Given the description of an element on the screen output the (x, y) to click on. 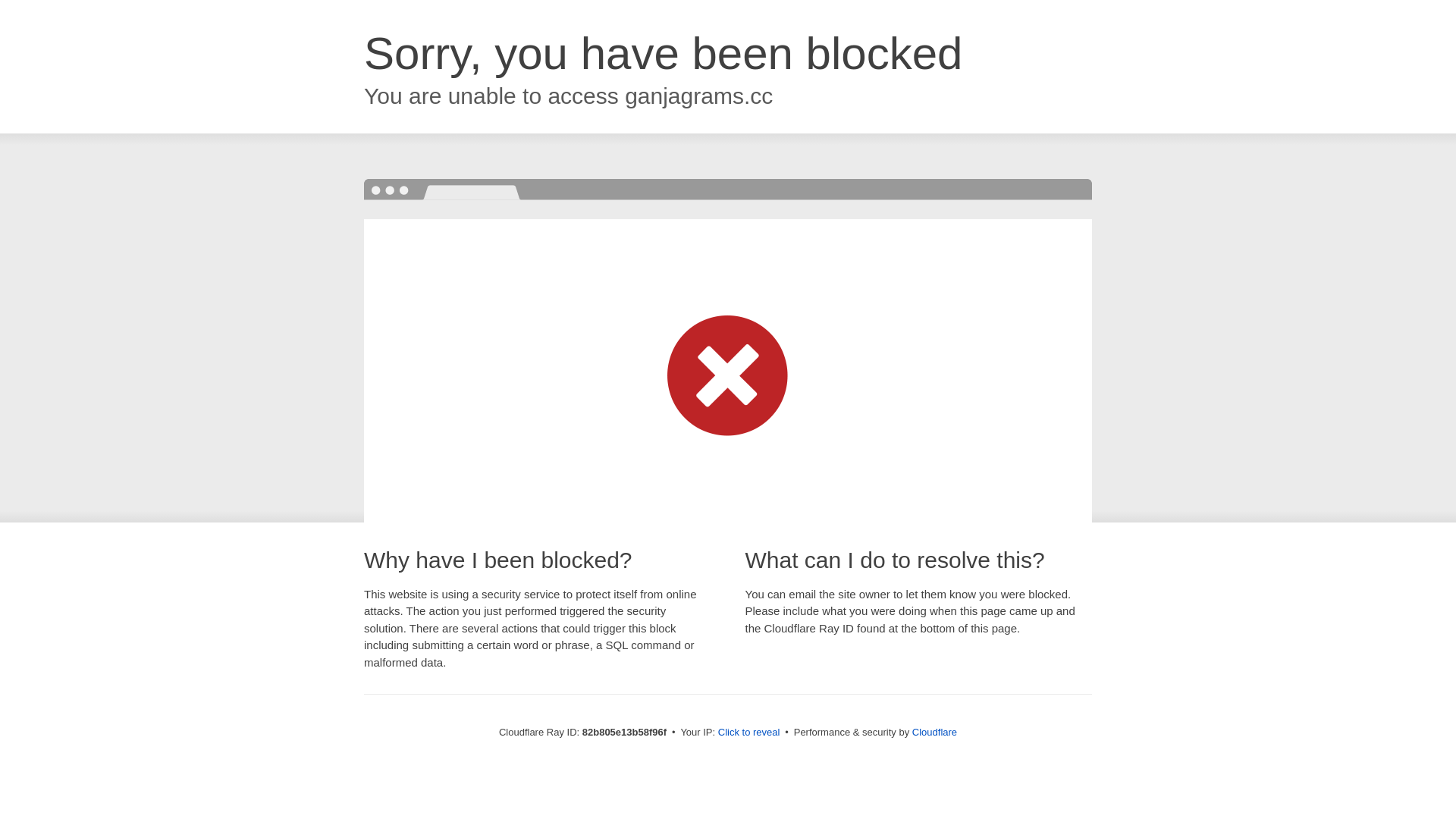
Cloudflare Element type: text (934, 731)
Click to reveal Element type: text (749, 732)
